Given the description of an element on the screen output the (x, y) to click on. 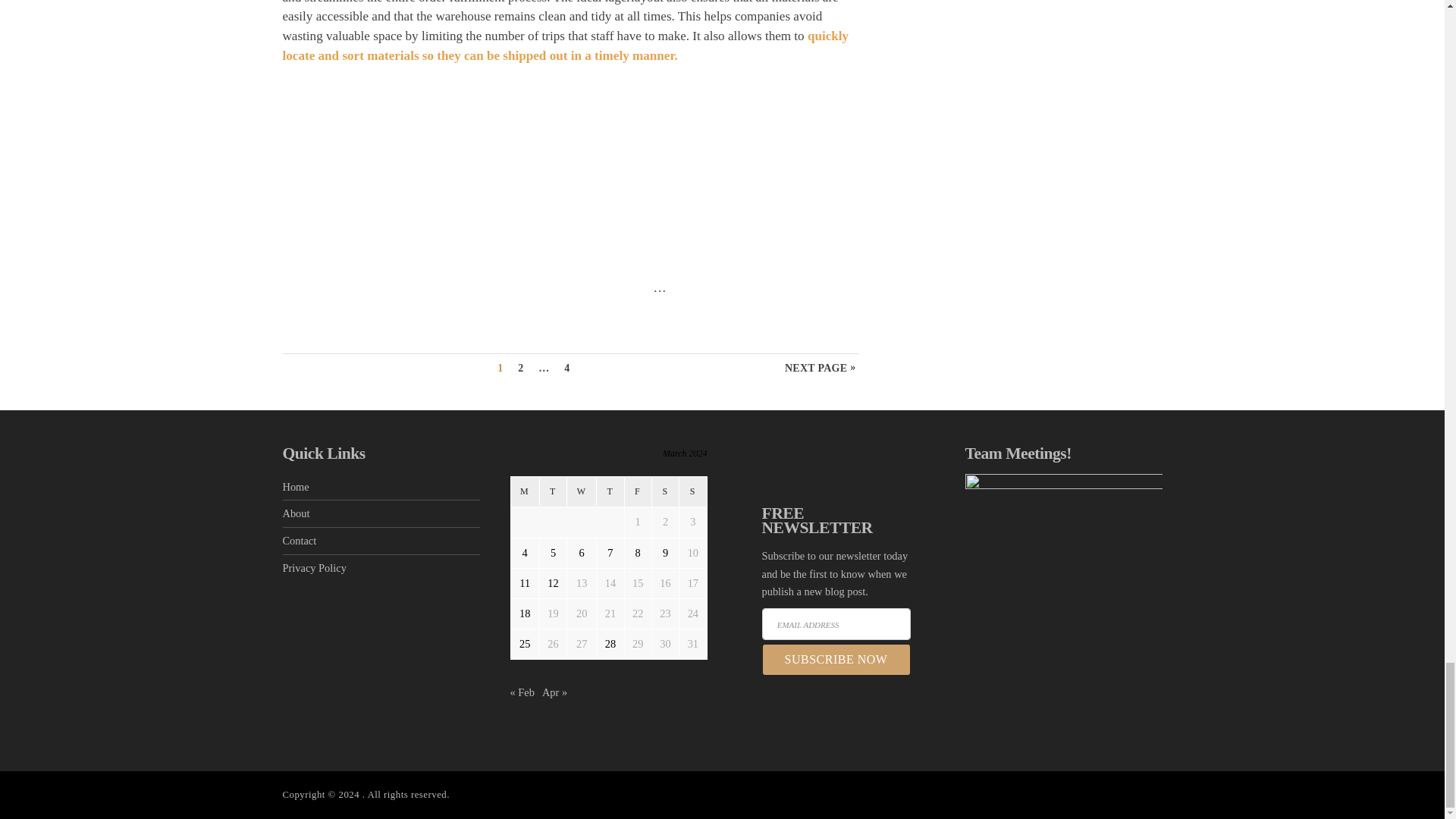
Friday (637, 491)
Sunday (692, 491)
Thursday (610, 491)
Wednesday (581, 491)
Monday (524, 491)
SUBSCRIBE NOW (835, 659)
Saturday (664, 491)
Tuesday (552, 491)
